Given the description of an element on the screen output the (x, y) to click on. 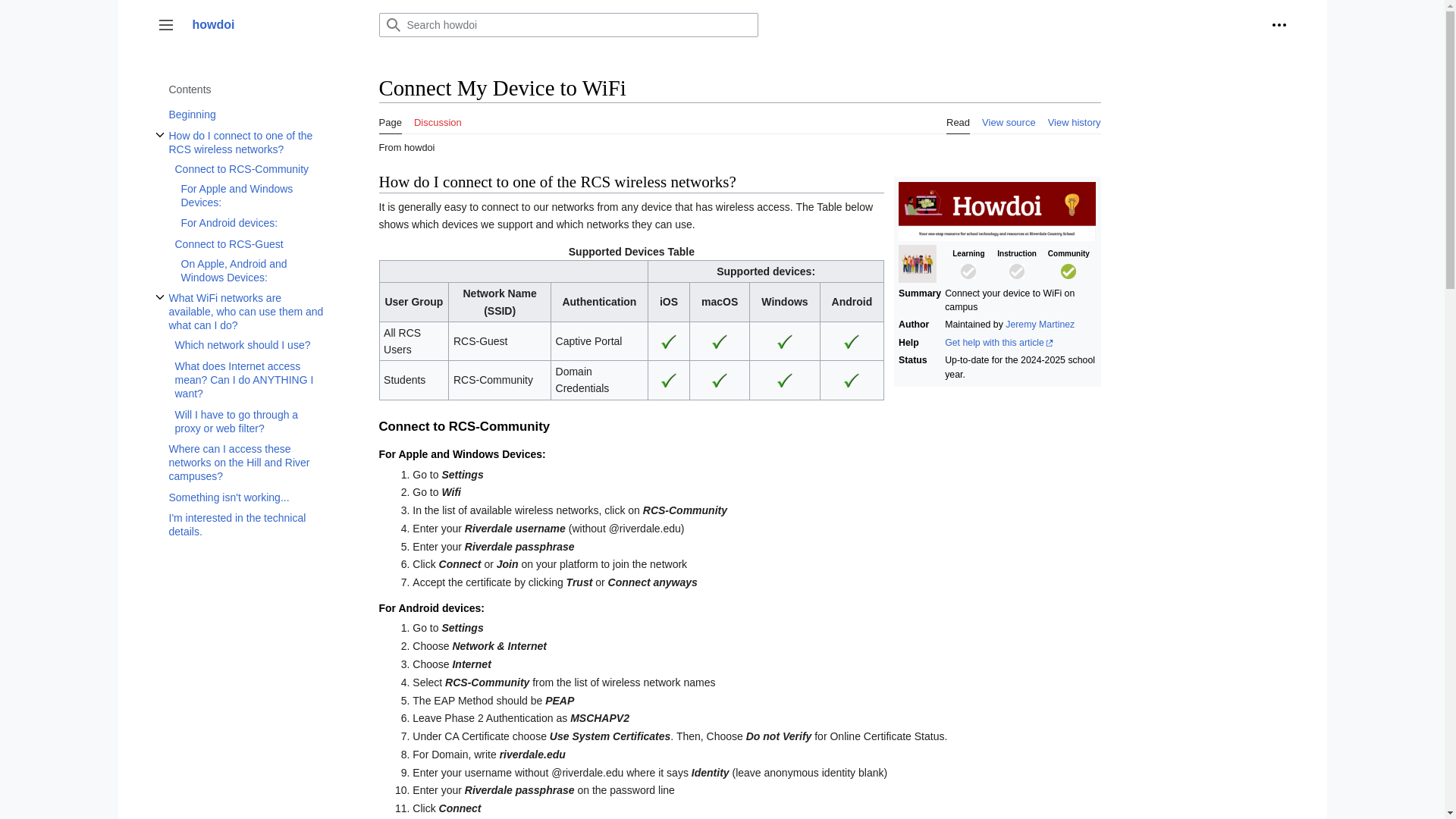
Search (392, 24)
Main menu (165, 24)
Search (392, 24)
How do I connect to one of the RCS wireless networks? (245, 142)
Search (392, 24)
Beginning (245, 114)
Which network should I use? (248, 344)
More options (1279, 24)
View source (1008, 118)
